Given the description of an element on the screen output the (x, y) to click on. 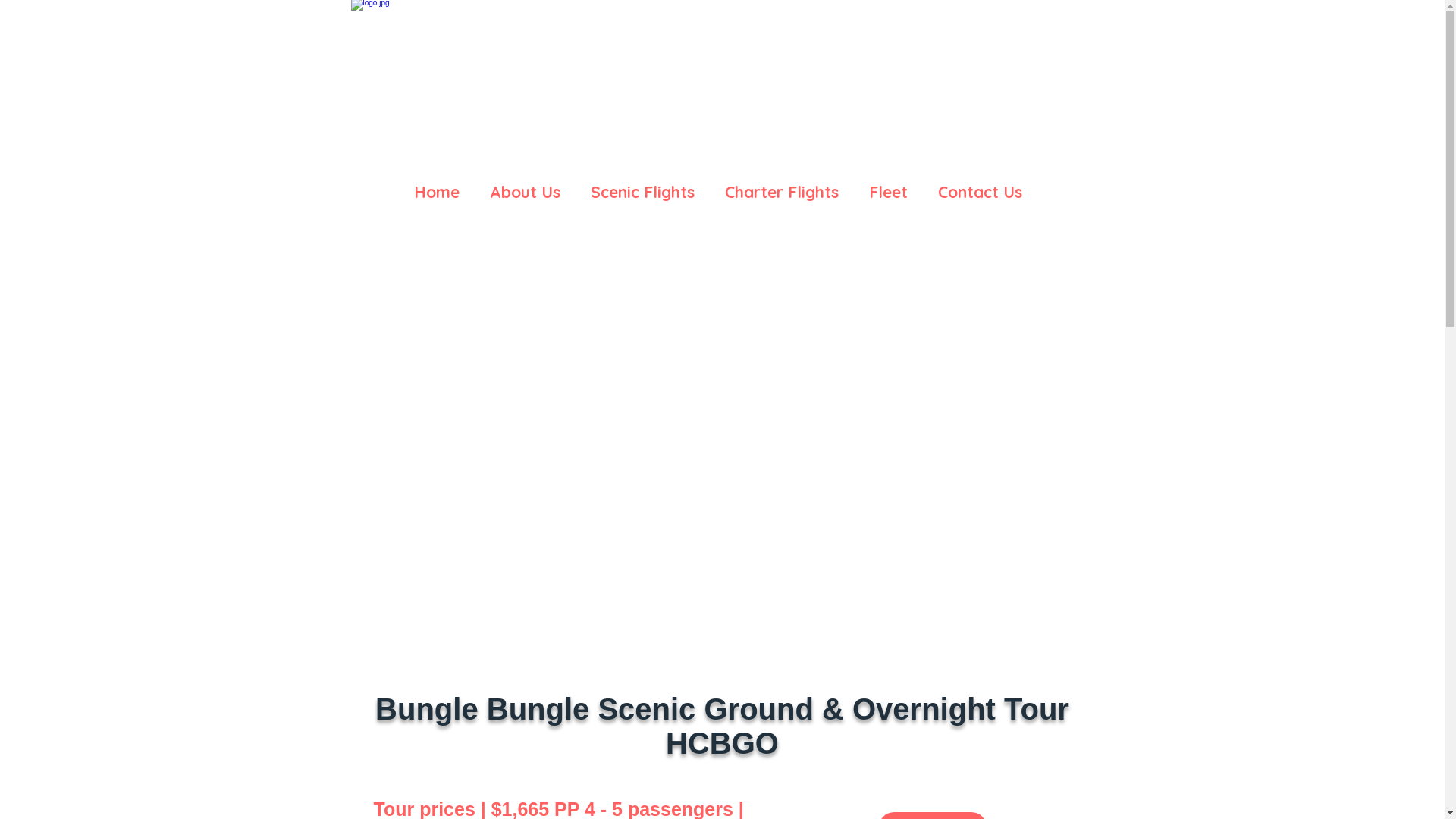
About Us Element type: text (524, 184)
Fleet Element type: text (887, 184)
Home Element type: text (436, 184)
Scenic Flights Element type: text (641, 184)
Charter Flights Element type: text (781, 184)
Contact Us Element type: text (979, 184)
